Given the description of an element on the screen output the (x, y) to click on. 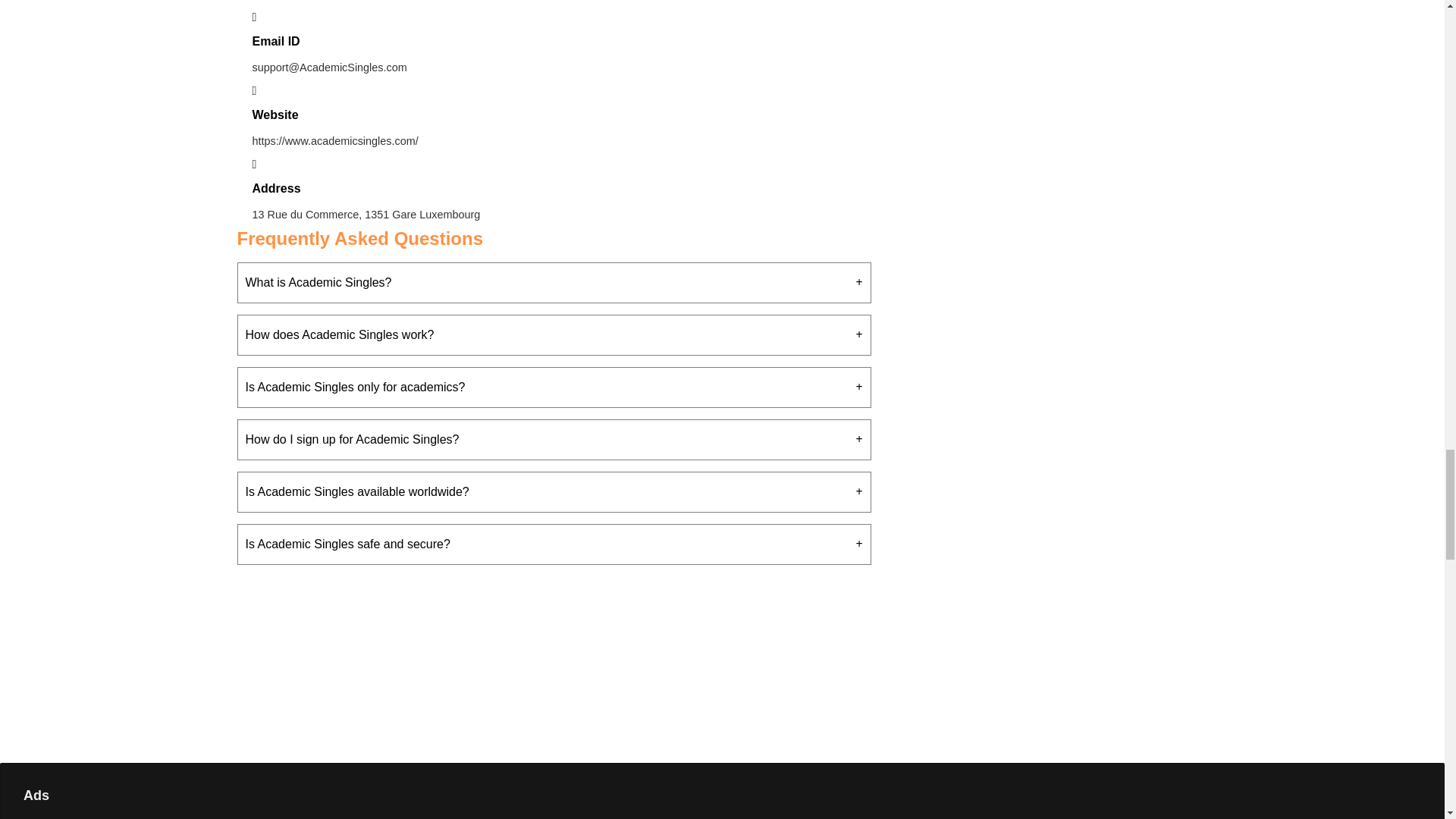
Search (1393, 680)
